Given the description of an element on the screen output the (x, y) to click on. 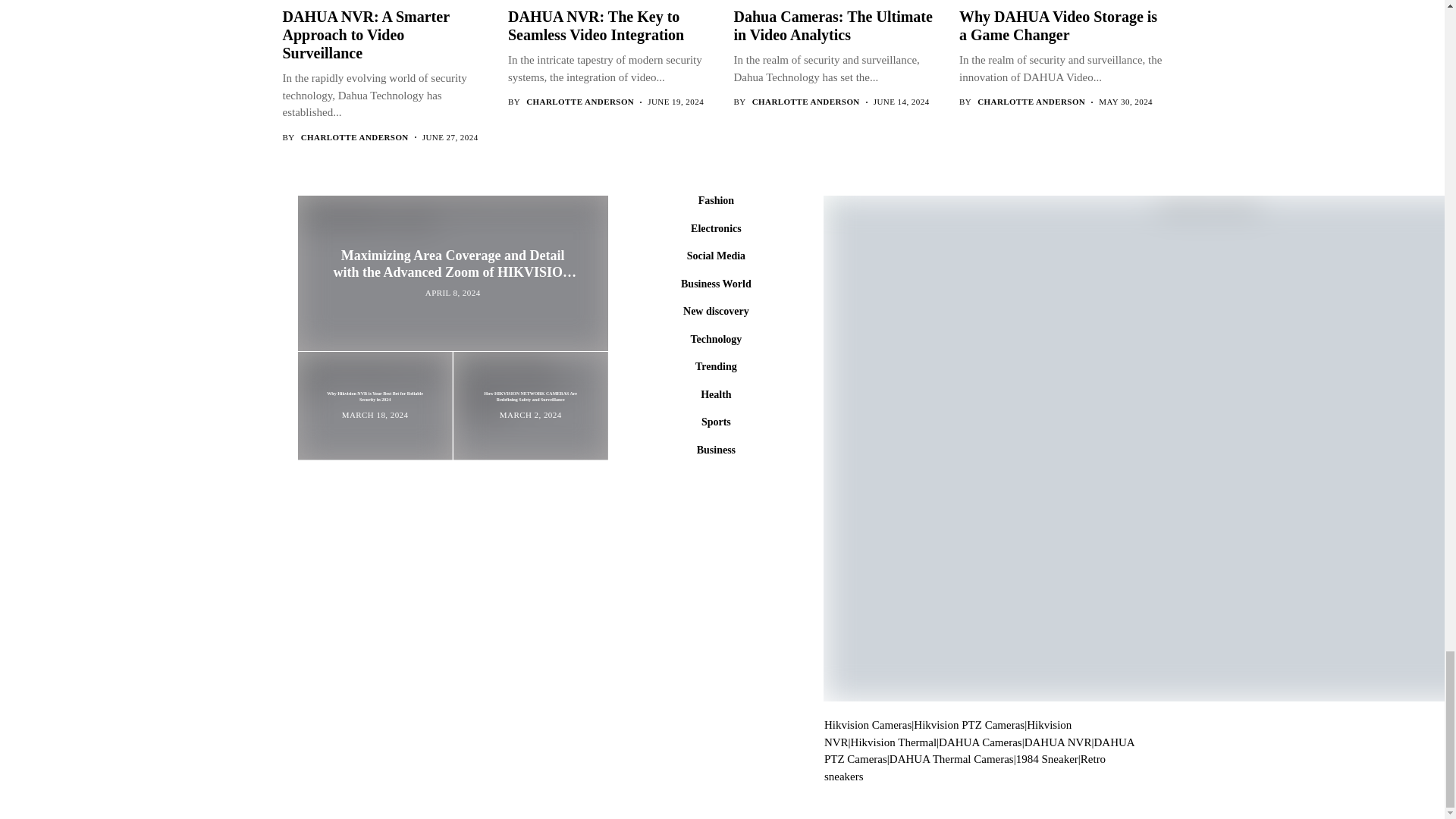
Posts by Charlotte Anderson (806, 102)
Posts by Charlotte Anderson (579, 102)
Posts by Charlotte Anderson (1030, 102)
Posts by Charlotte Anderson (355, 137)
